Given the description of an element on the screen output the (x, y) to click on. 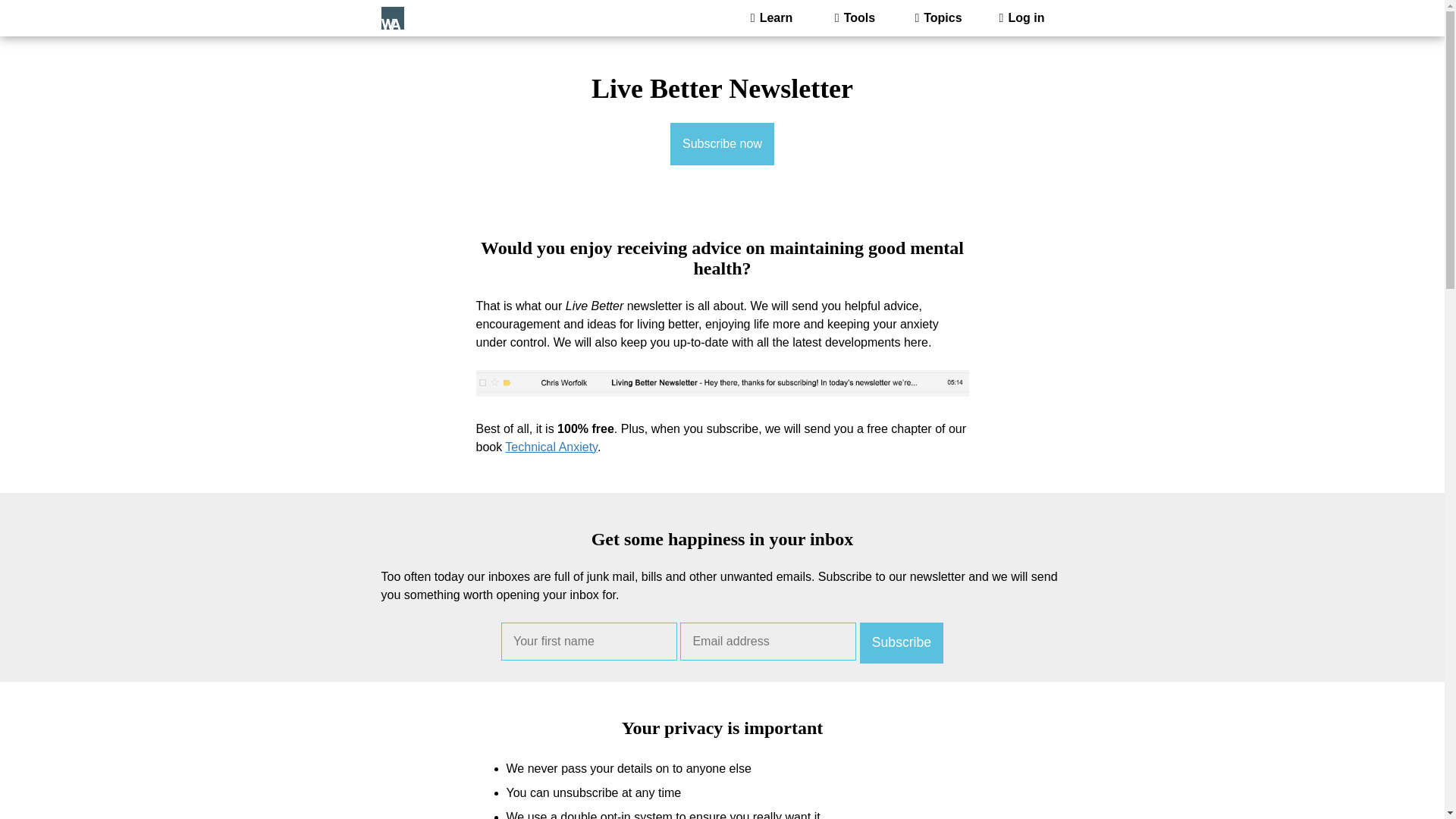
Tools (854, 18)
Log in (1020, 18)
Learn (770, 18)
Subscribe (901, 642)
Technical Anxiety (550, 446)
Topics (937, 18)
Subscribe now (721, 143)
